Given the description of an element on the screen output the (x, y) to click on. 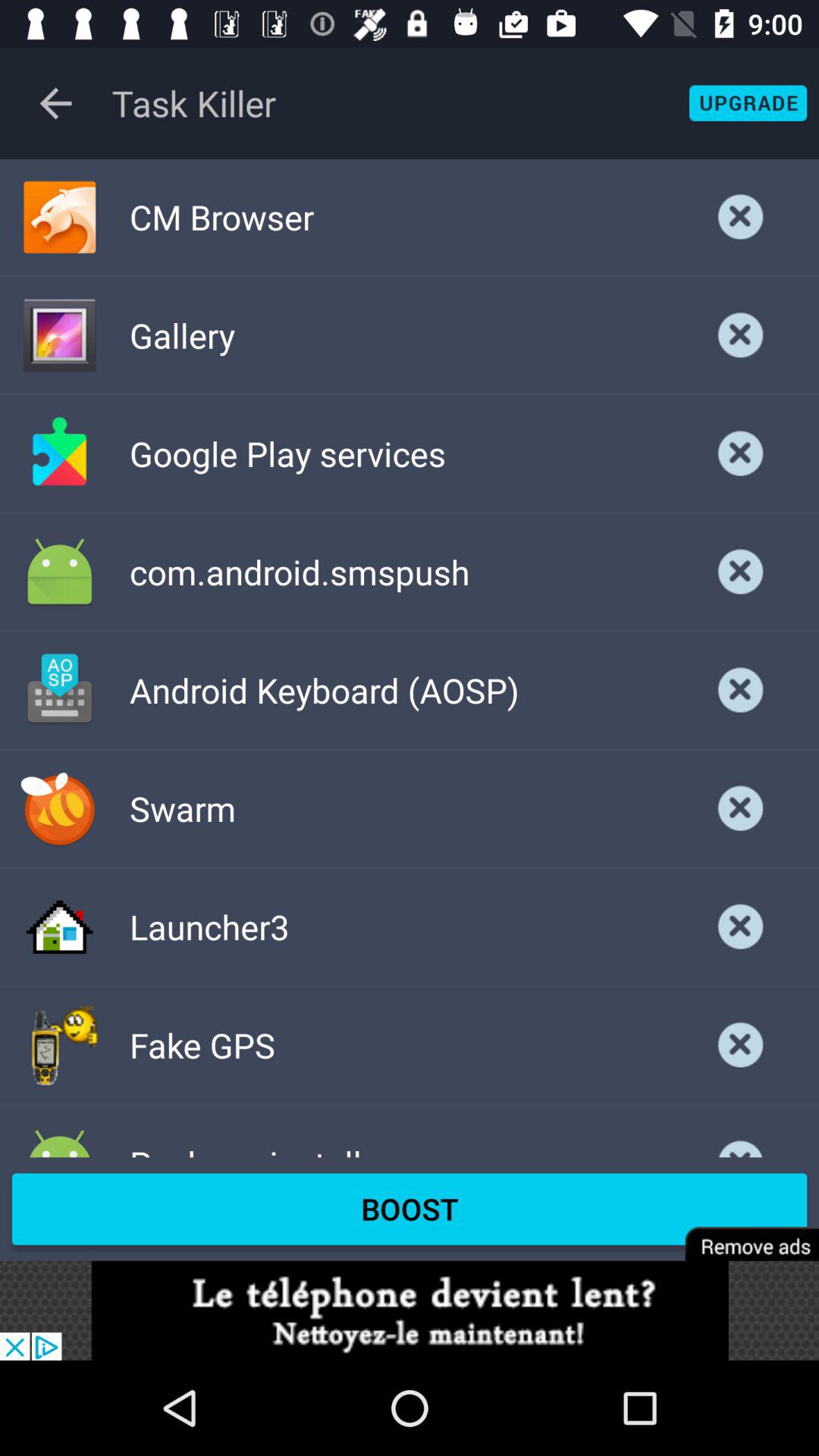
cancel option (740, 1136)
